Given the description of an element on the screen output the (x, y) to click on. 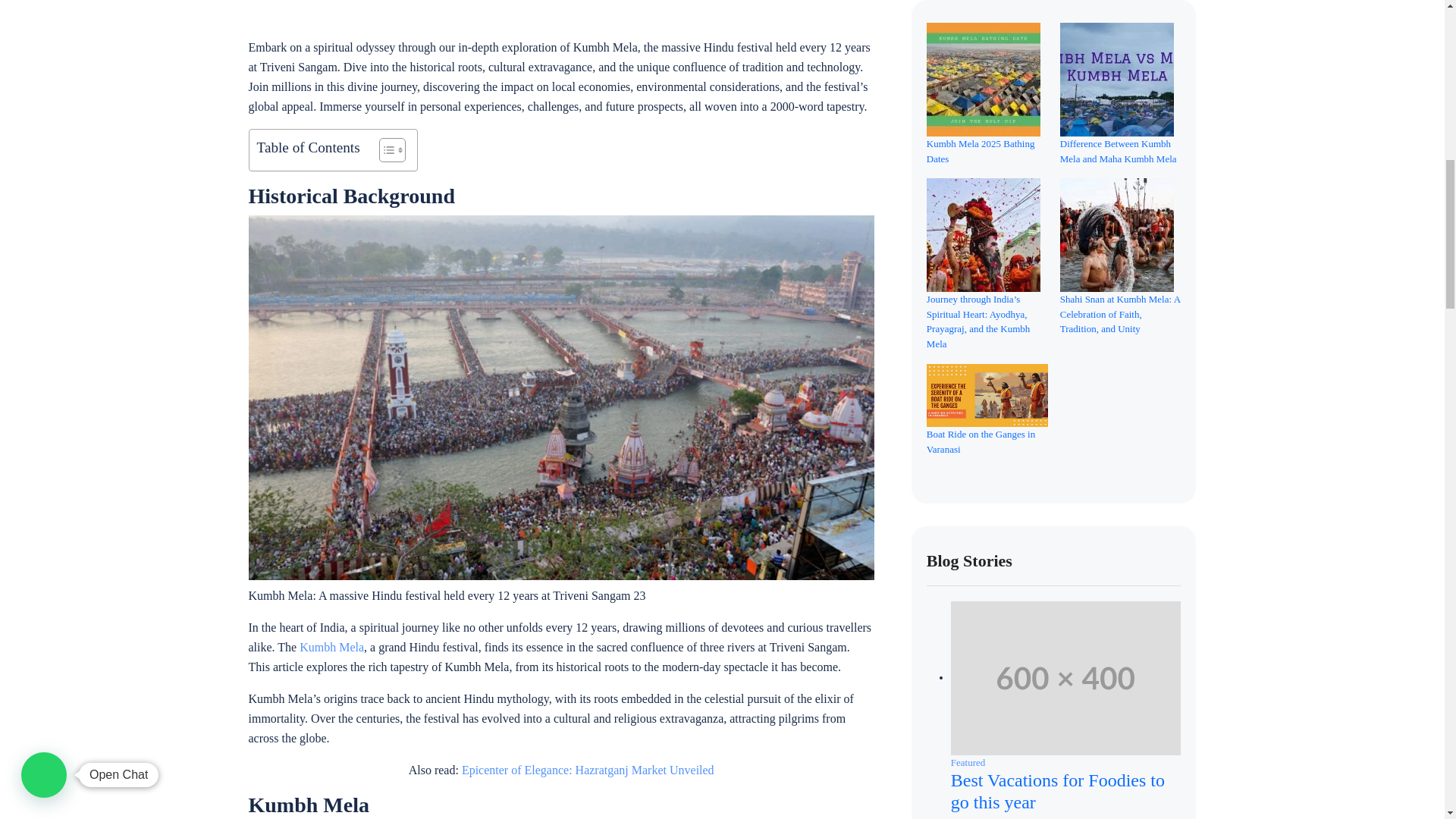
Kumbh Mela (331, 646)
